Given the description of an element on the screen output the (x, y) to click on. 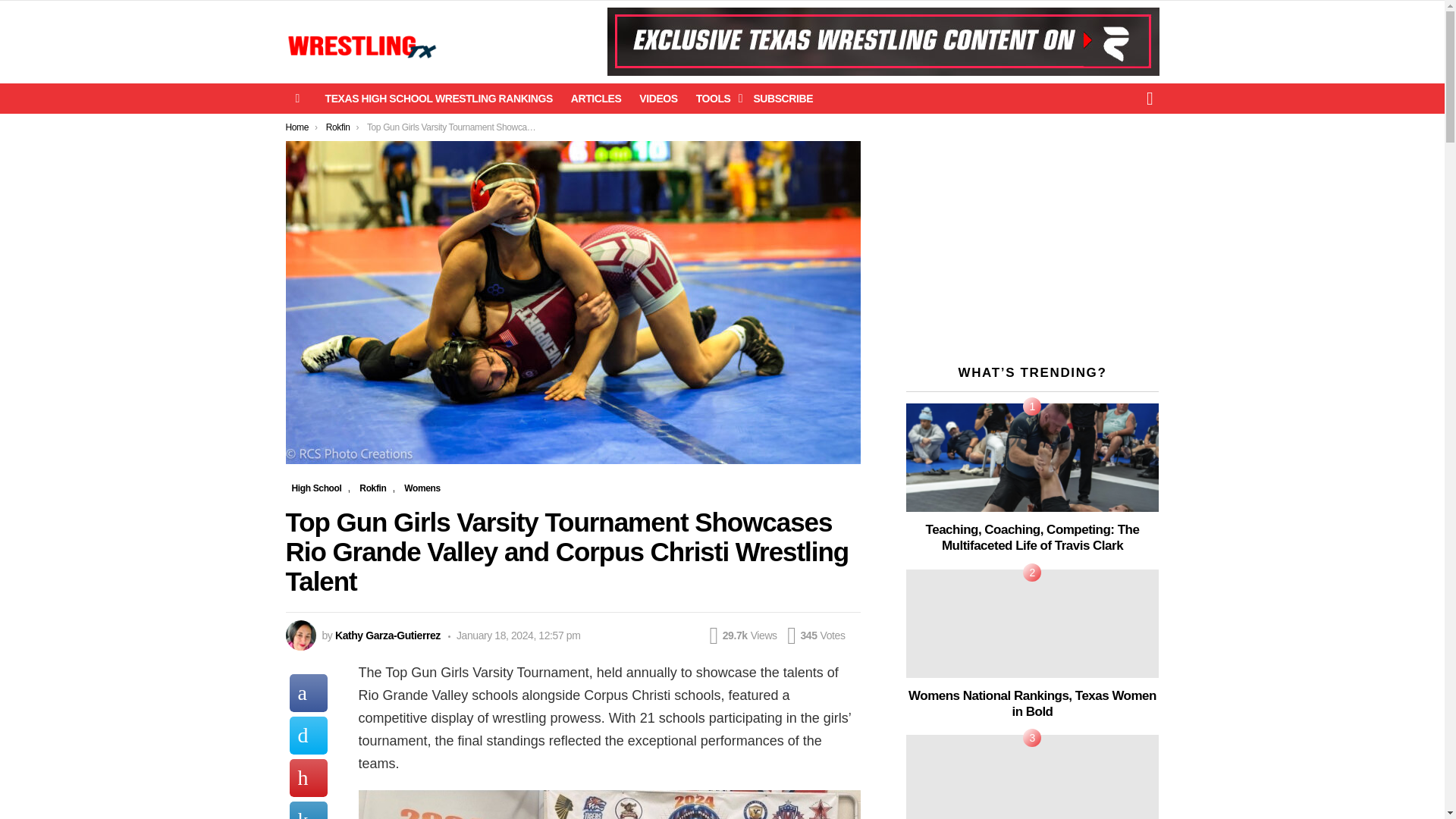
Rokfin (338, 127)
SUBSCRIBE (783, 97)
Kathy Garza-Gutierrez (387, 635)
TOOLS (715, 97)
Rokfin (372, 488)
Share on Pinterest (308, 777)
Menu (296, 98)
Home (296, 127)
Womens (421, 488)
Share on Facebook (308, 692)
